Given the description of an element on the screen output the (x, y) to click on. 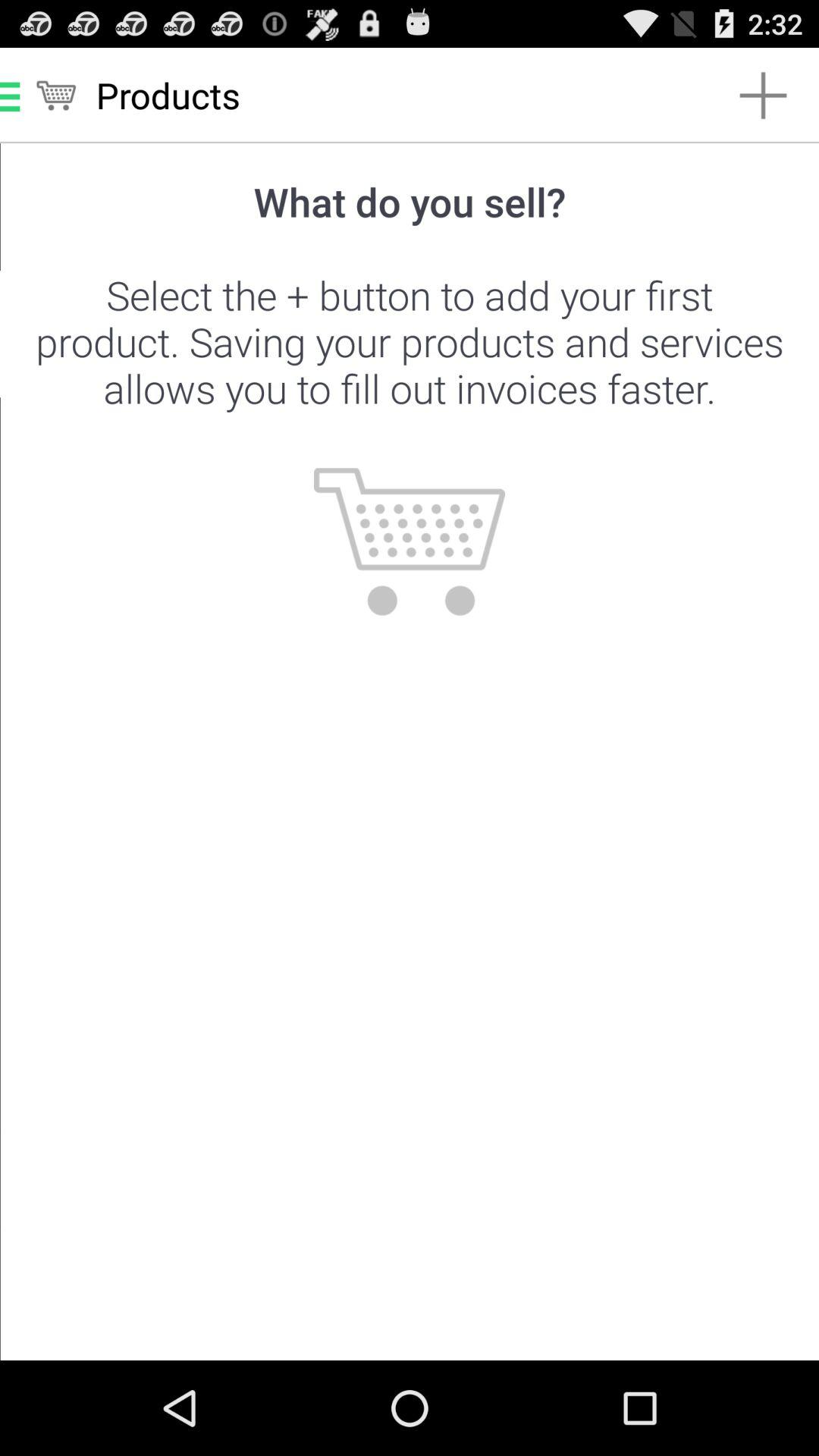
click on the cart symbol at top left corner of the page (55, 95)
